Given the description of an element on the screen output the (x, y) to click on. 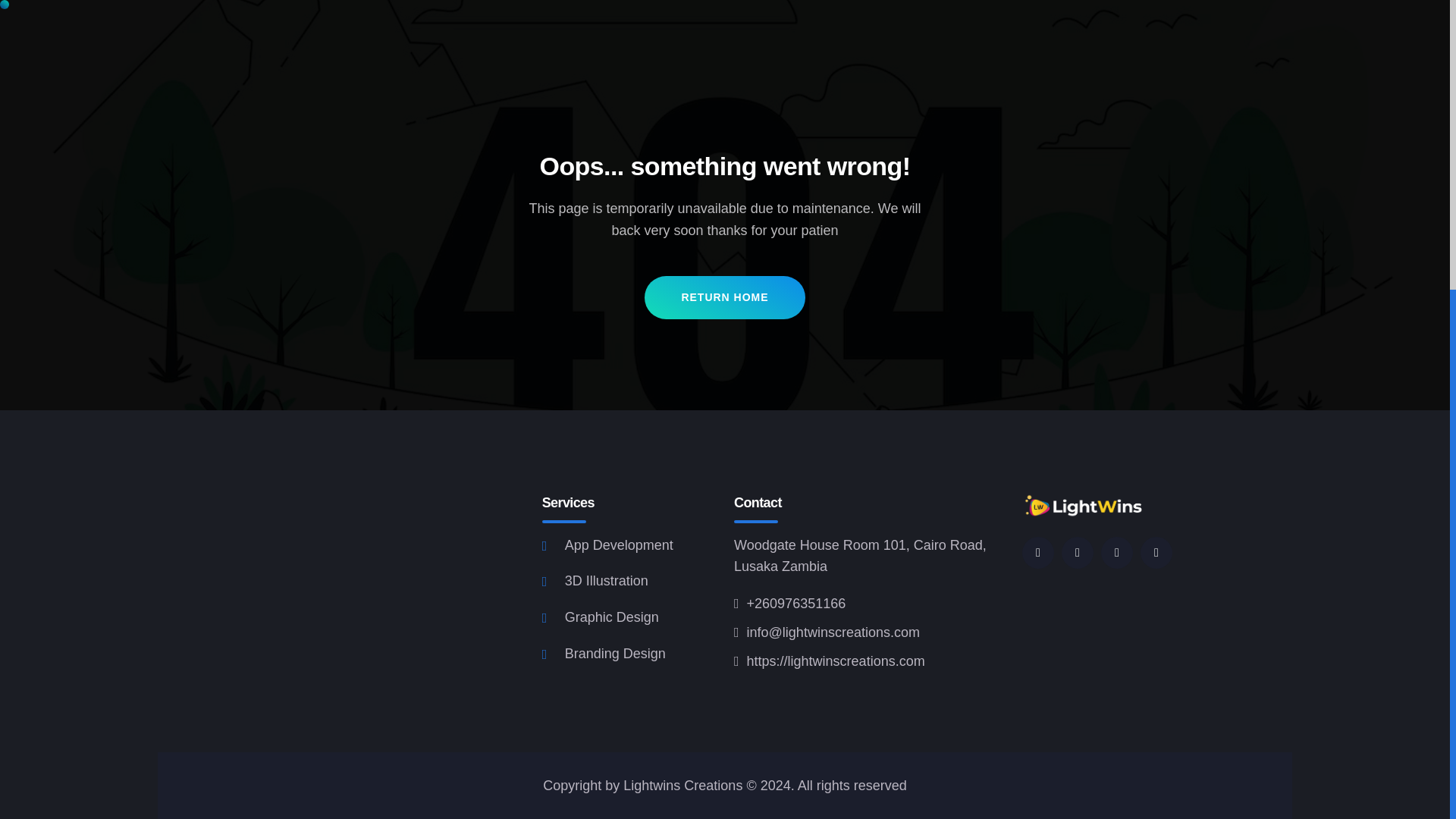
Graphic Design (600, 616)
RETURN HOME (725, 297)
3D Illustration (594, 580)
Branding Design (603, 653)
App Development (606, 544)
